Given the description of an element on the screen output the (x, y) to click on. 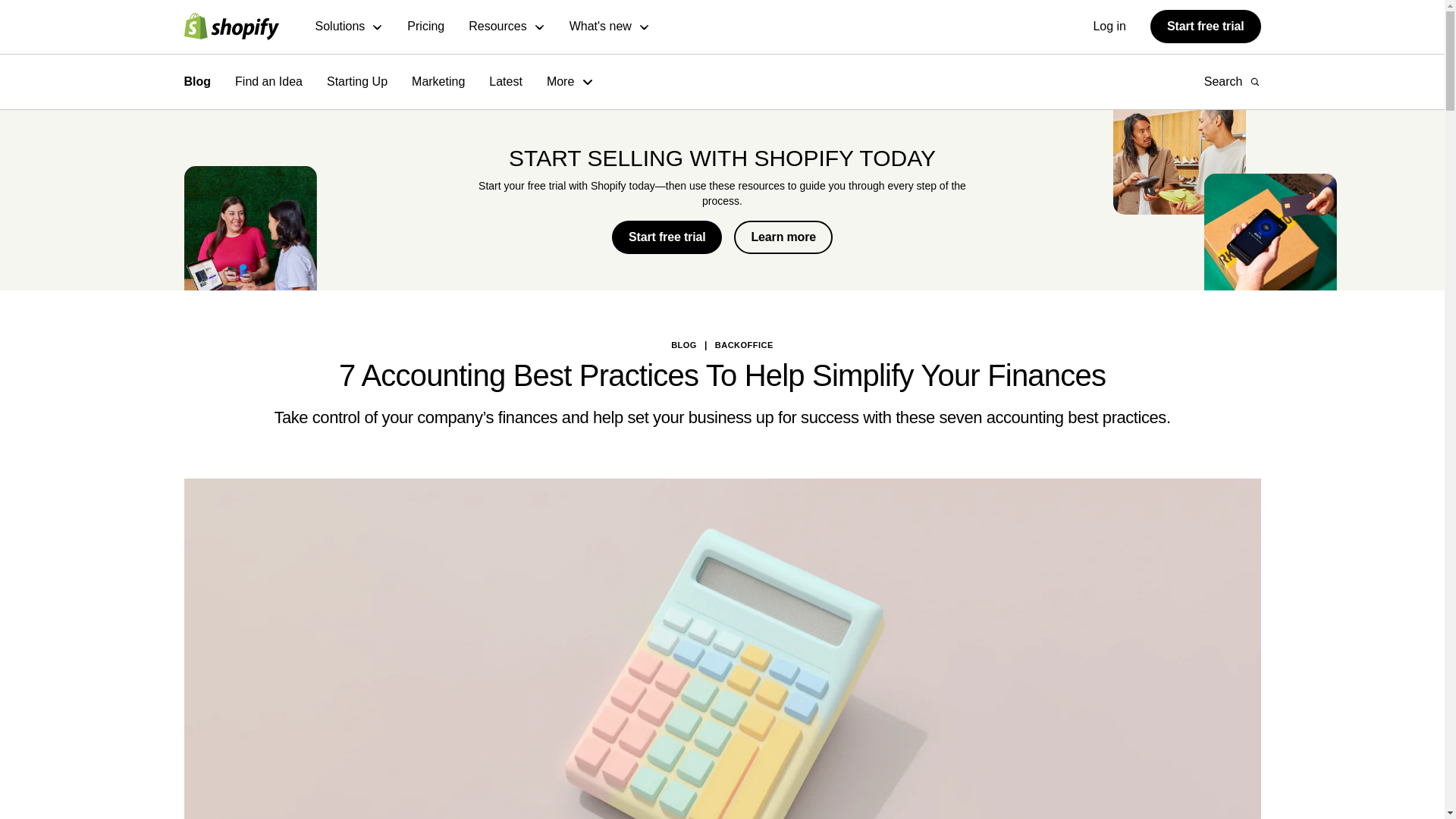
Solutions (349, 27)
Resources (506, 27)
